Given the description of an element on the screen output the (x, y) to click on. 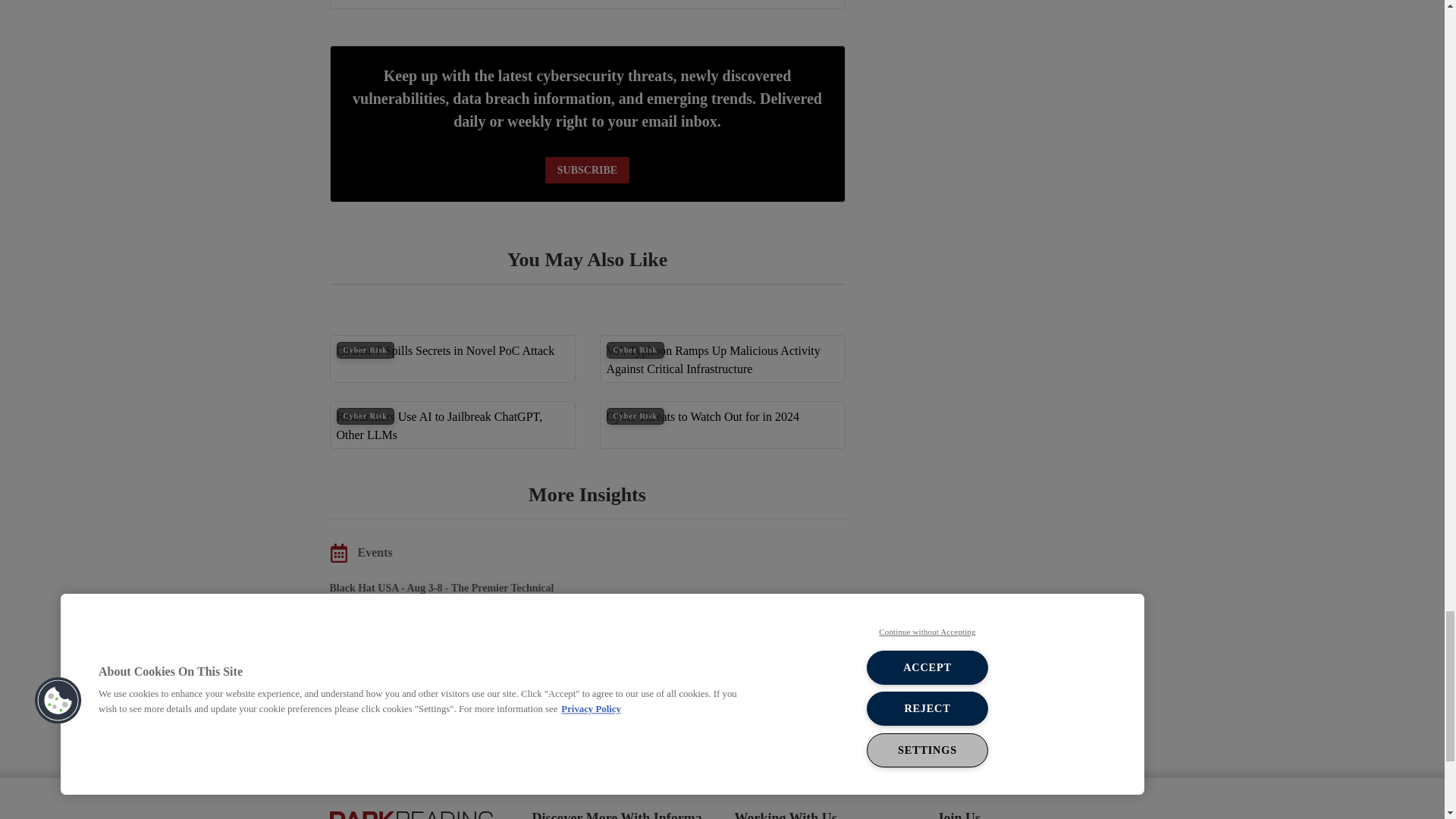
Logo (410, 813)
